Given the description of an element on the screen output the (x, y) to click on. 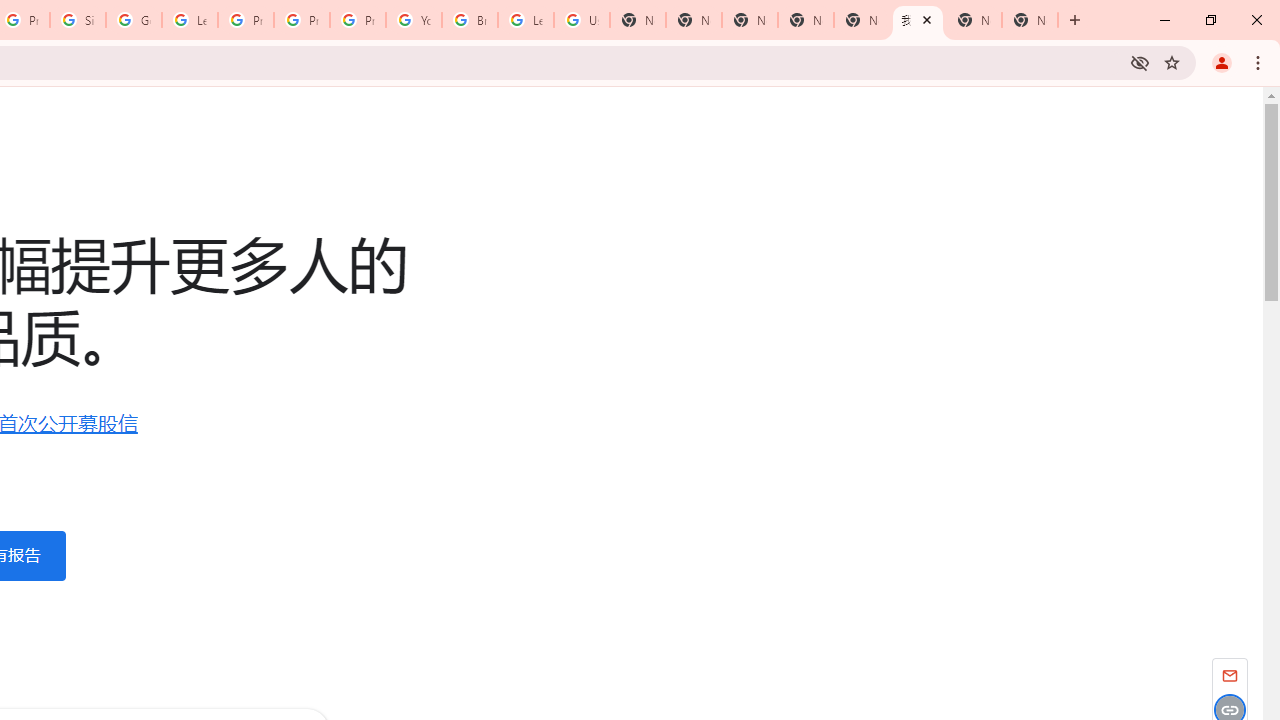
New Tab (749, 20)
Privacy Help Center - Policies Help (301, 20)
